Given the description of an element on the screen output the (x, y) to click on. 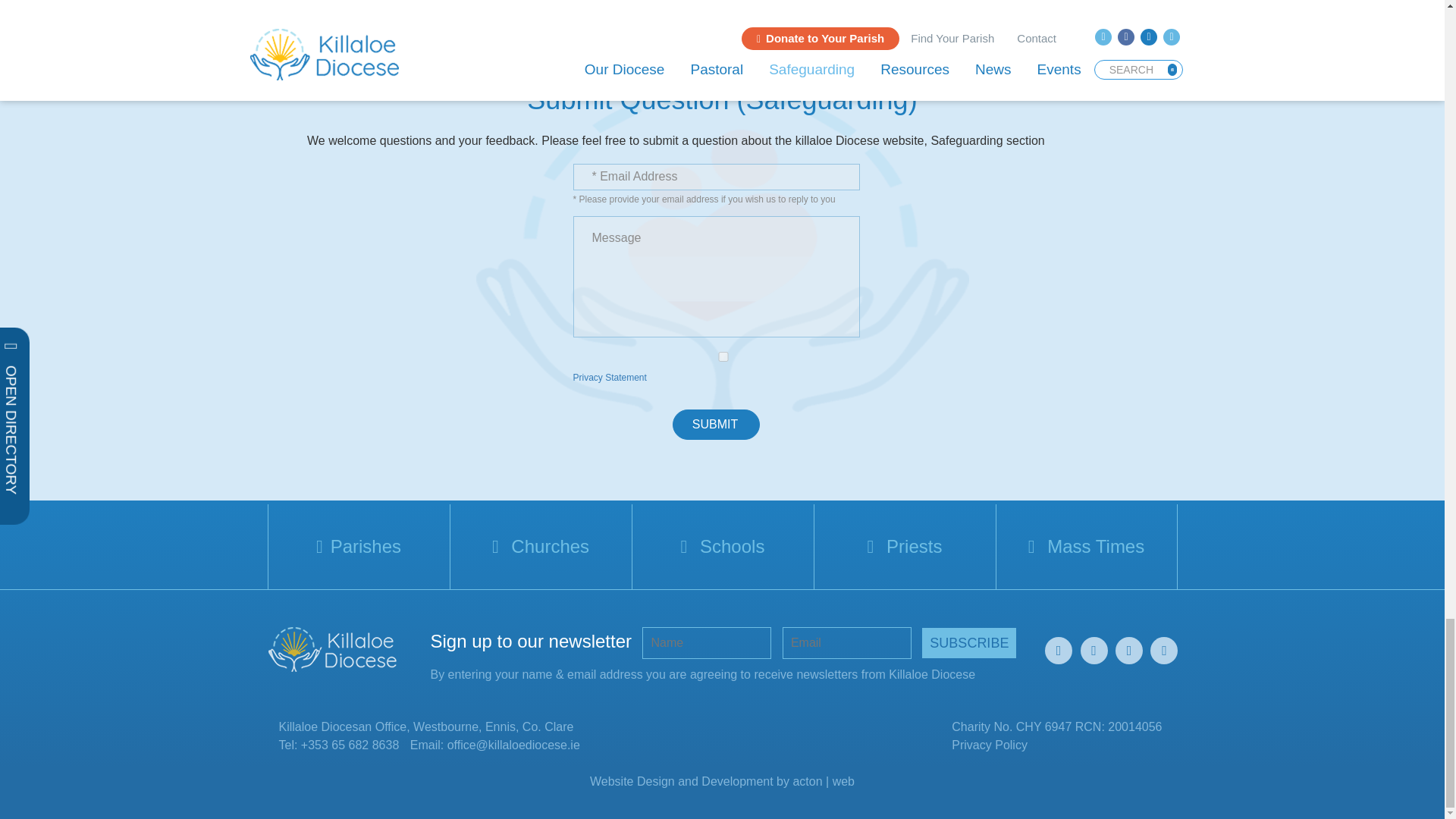
Submit (716, 424)
Accept (722, 356)
